Given the description of an element on the screen output the (x, y) to click on. 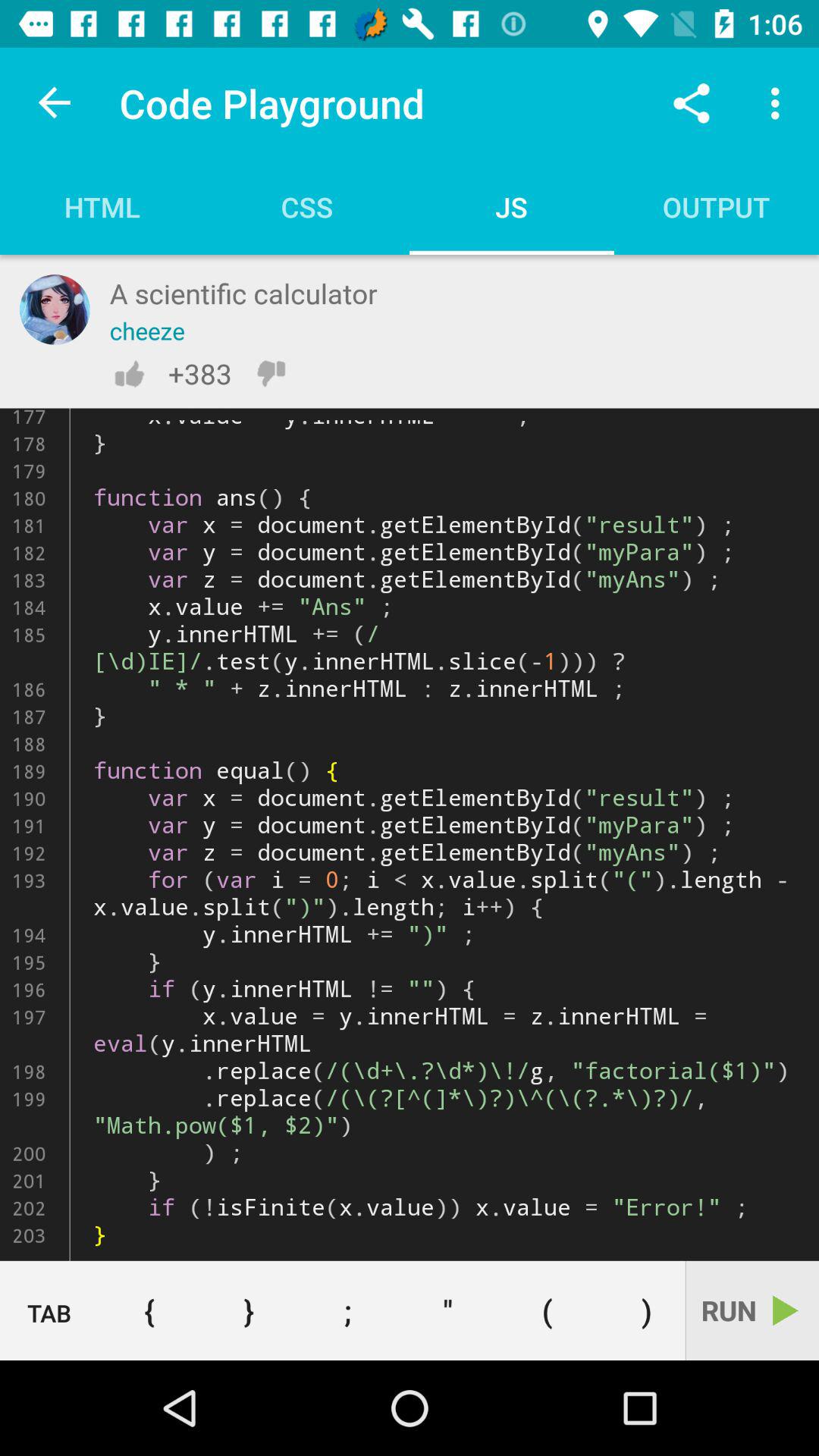
flip to the function shiftfn ken item (409, 834)
